Given the description of an element on the screen output the (x, y) to click on. 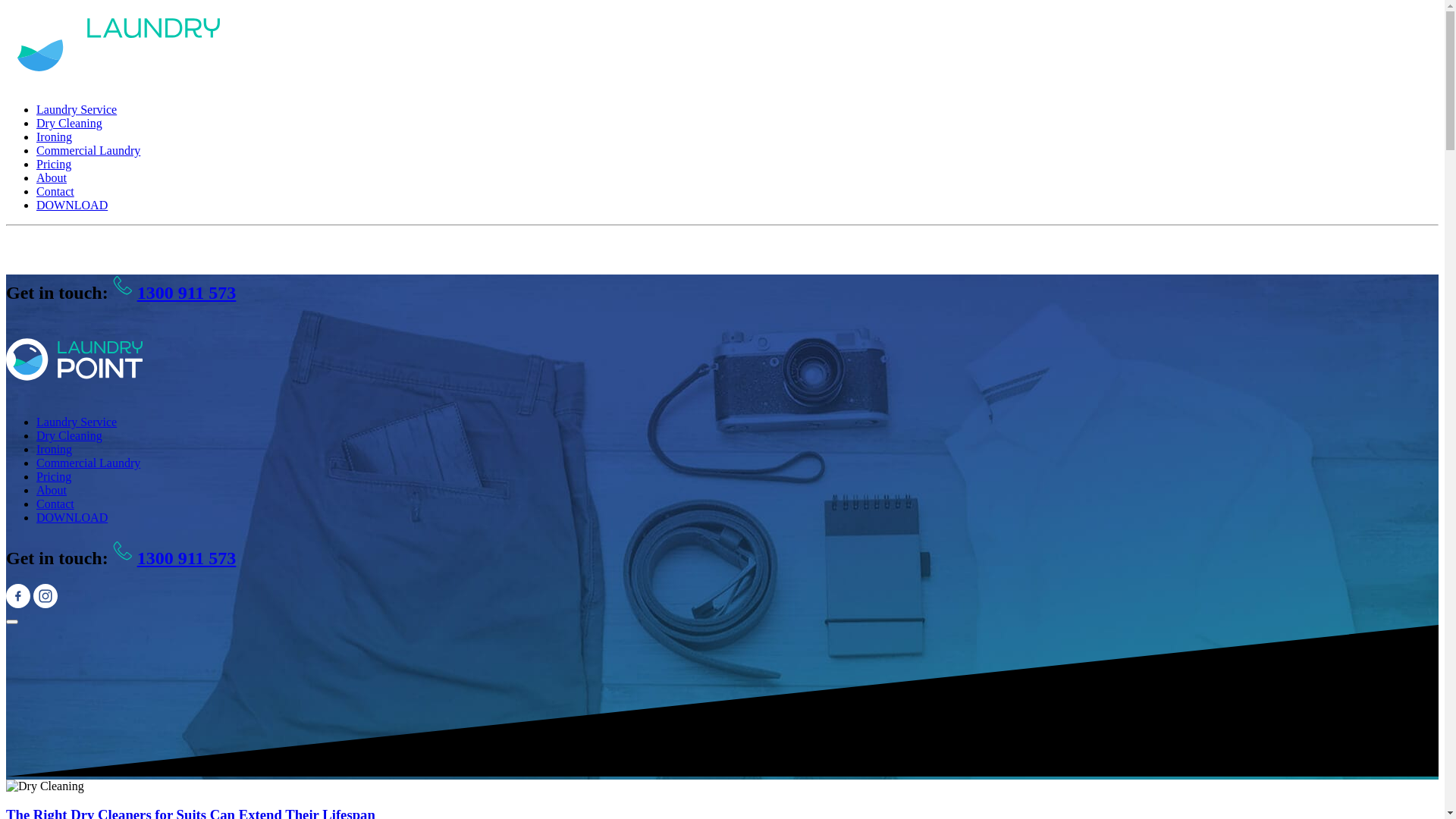
Dry Cleaning Element type: text (69, 435)
Laundry Service Element type: text (76, 421)
Pricing Element type: text (53, 163)
Commercial Laundry Element type: text (88, 462)
DOWNLOAD Element type: text (71, 517)
Dry Cleaning Element type: text (69, 122)
About Element type: text (51, 489)
Contact Element type: text (55, 191)
1300 911 573 Element type: text (174, 292)
DOWNLOAD Element type: text (71, 204)
Commercial Laundry Element type: text (88, 150)
Contact Element type: text (55, 503)
Laundry Service Element type: text (76, 109)
Ironing Element type: text (54, 136)
Ironing Element type: text (54, 448)
1300 911 573 Element type: text (174, 557)
About Element type: text (51, 177)
Pricing Element type: text (53, 476)
